Given the description of an element on the screen output the (x, y) to click on. 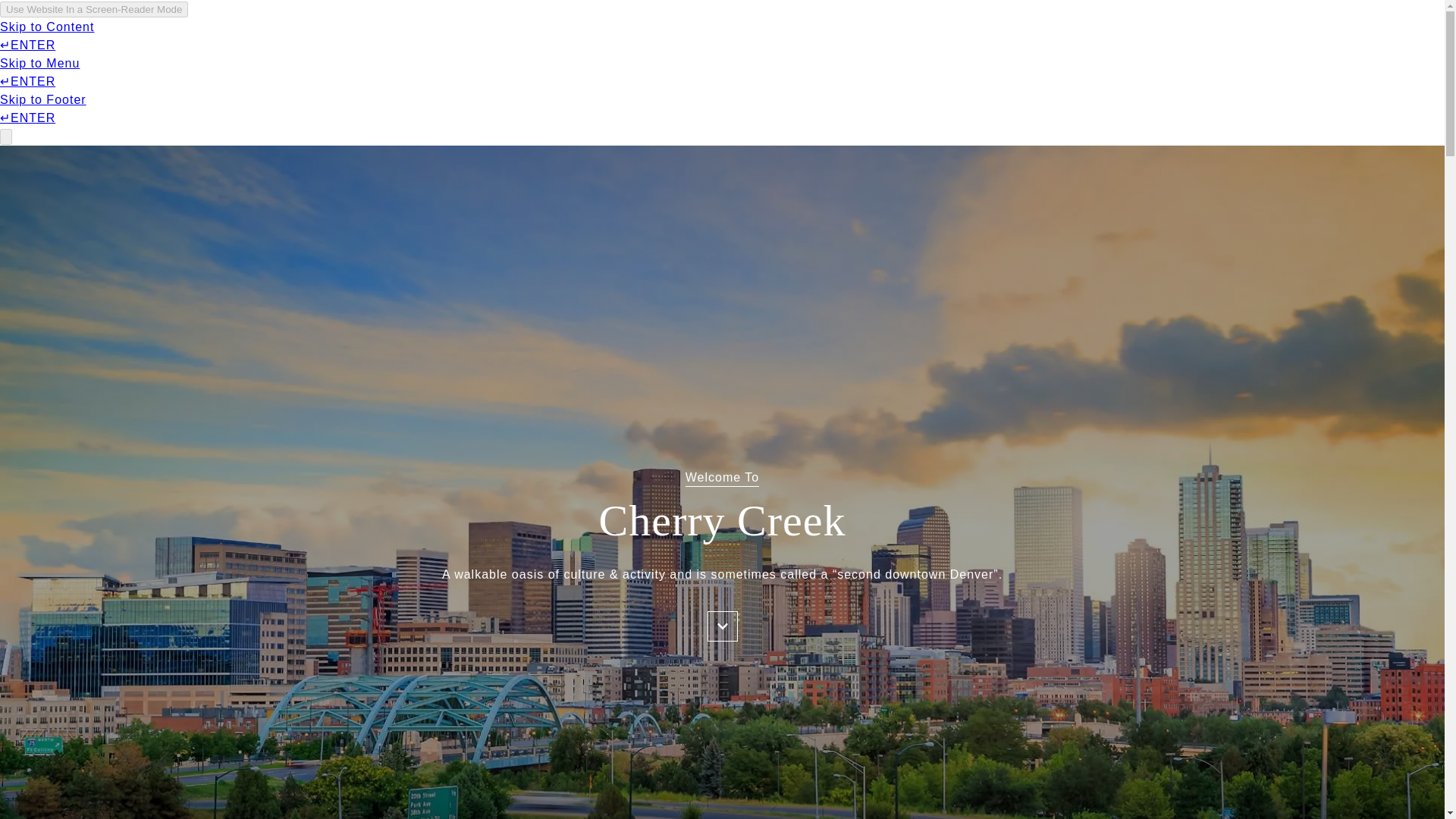
Let'S Connect (1125, 35)
Home Valuation (1012, 35)
Menu (187, 35)
Home Search (396, 35)
Menu (197, 35)
Kelly'S Portfolio (285, 35)
